Given the description of an element on the screen output the (x, y) to click on. 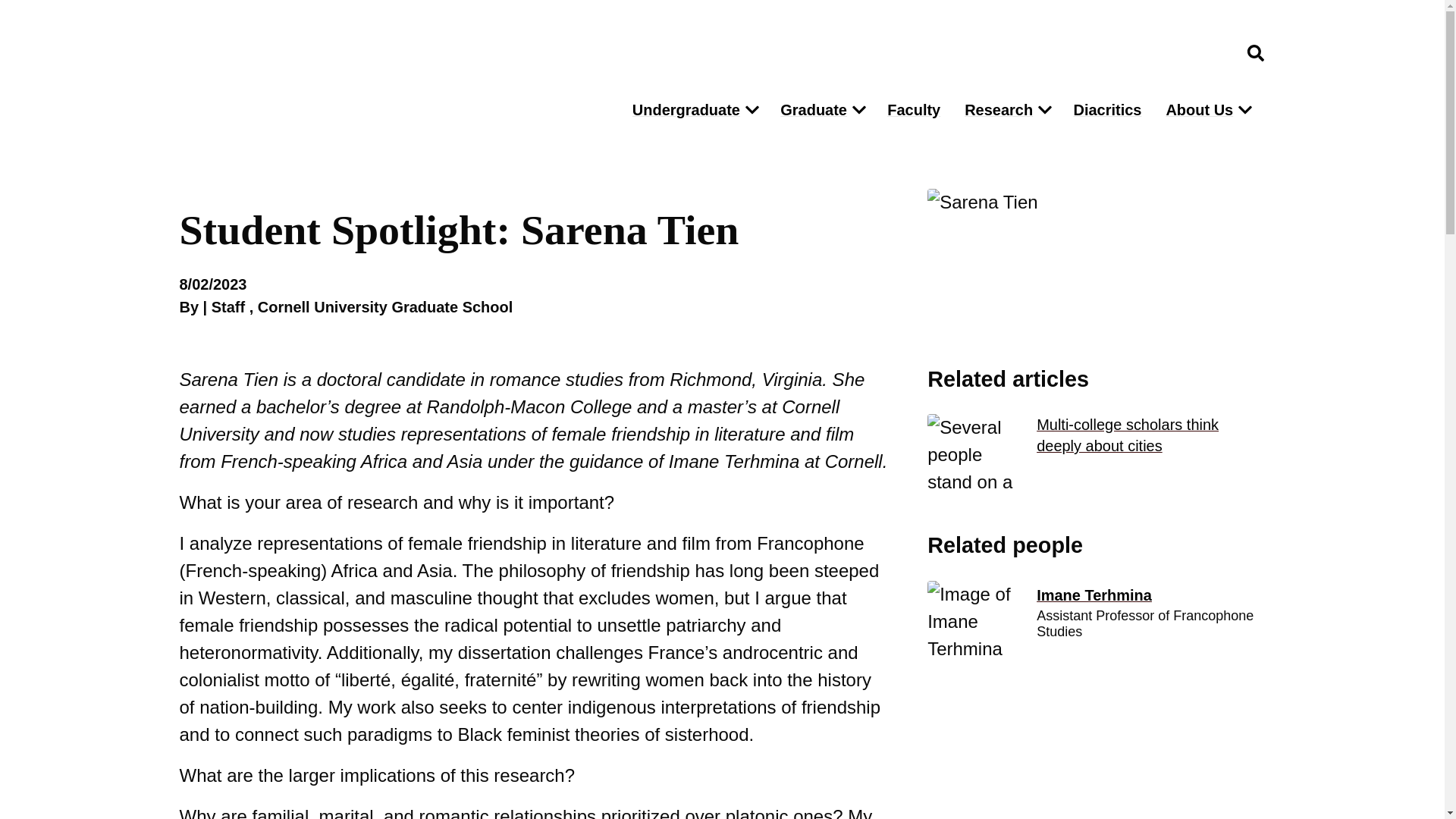
About Us (1195, 109)
Graduate (810, 109)
Faculty (913, 109)
Open search (1255, 53)
Cornell University (254, 53)
Cornell University (254, 53)
Search (975, 151)
Research (994, 109)
Diacritics (1106, 109)
Undergraduate (681, 109)
